Given the description of an element on the screen output the (x, y) to click on. 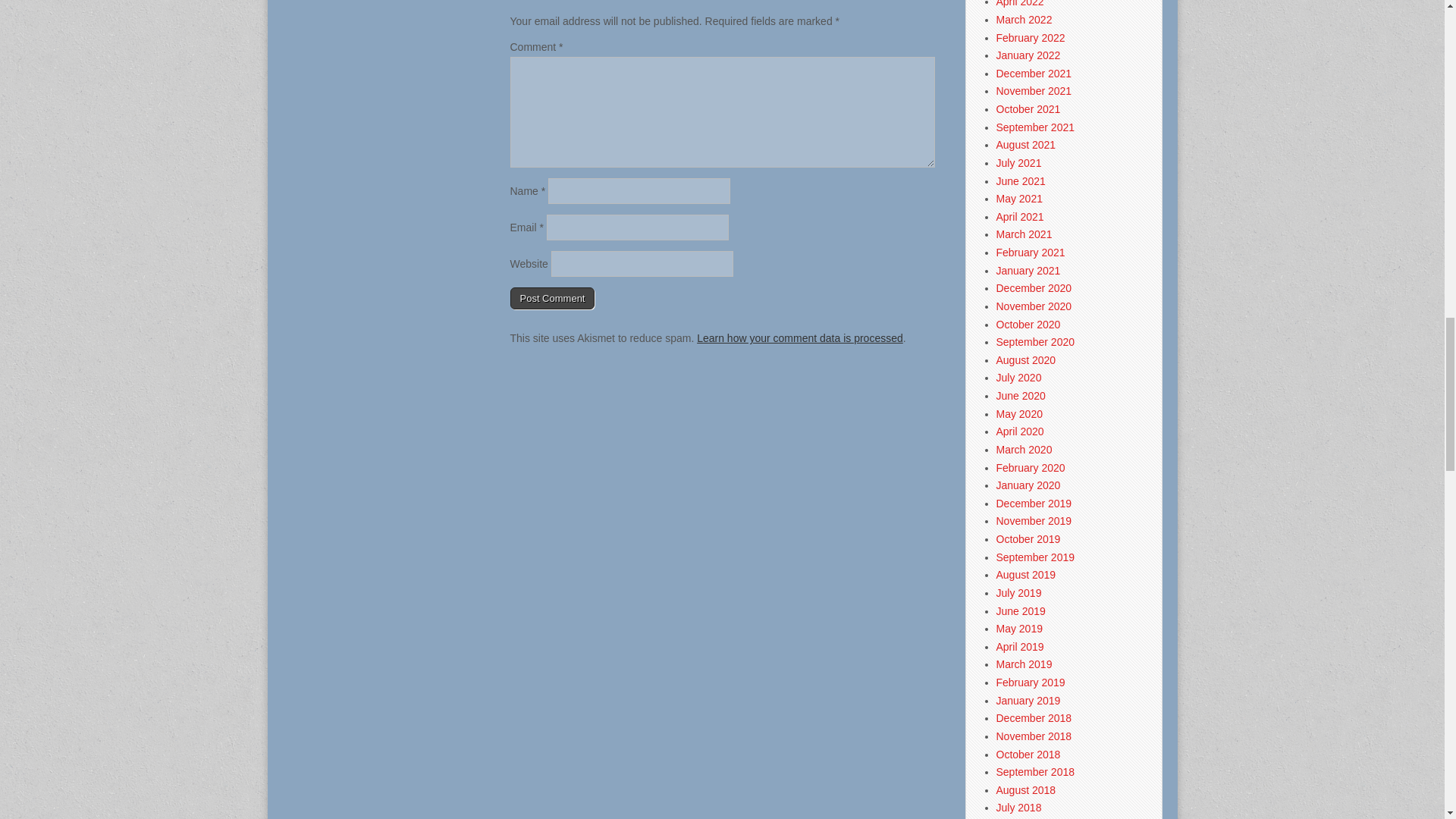
Post Comment (551, 298)
Post Comment (551, 298)
Learn how your comment data is processed (799, 337)
